Given the description of an element on the screen output the (x, y) to click on. 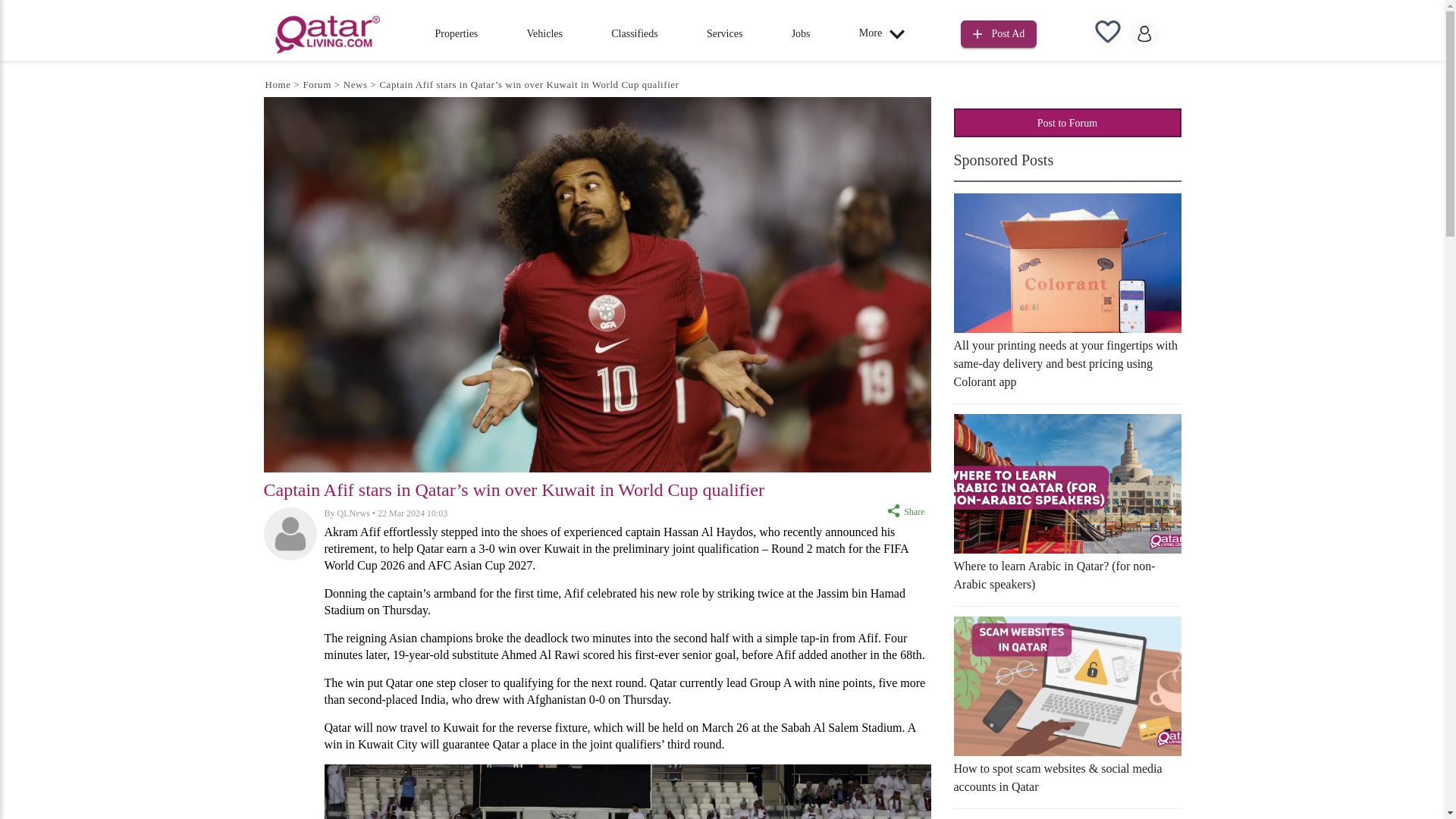
Classifieds (634, 33)
View user profile. (353, 512)
Post Ad (998, 32)
Post Ad (998, 34)
More (885, 33)
